Given the description of an element on the screen output the (x, y) to click on. 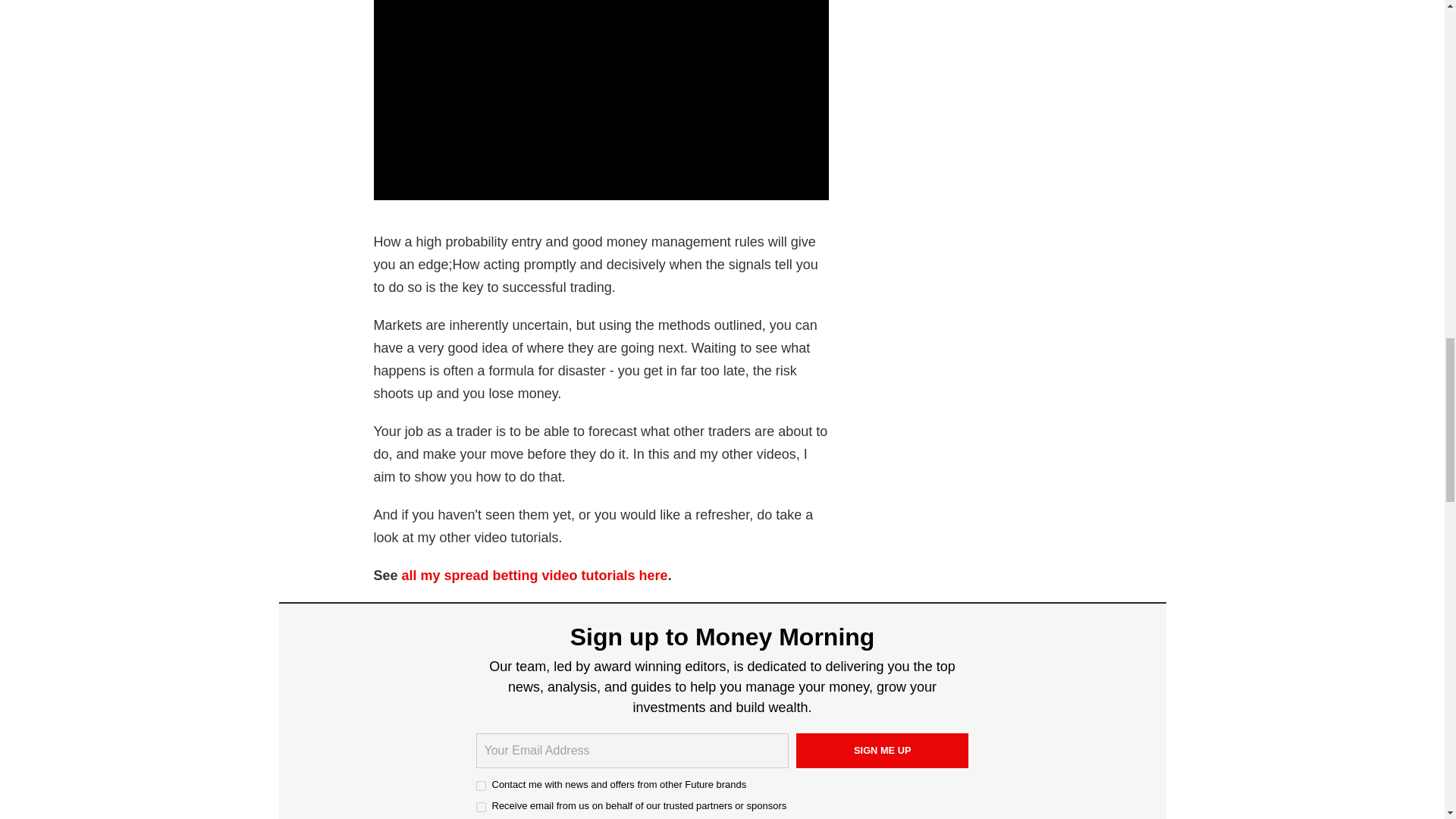
on (481, 786)
on (481, 807)
Sign me up (882, 750)
